Given the description of an element on the screen output the (x, y) to click on. 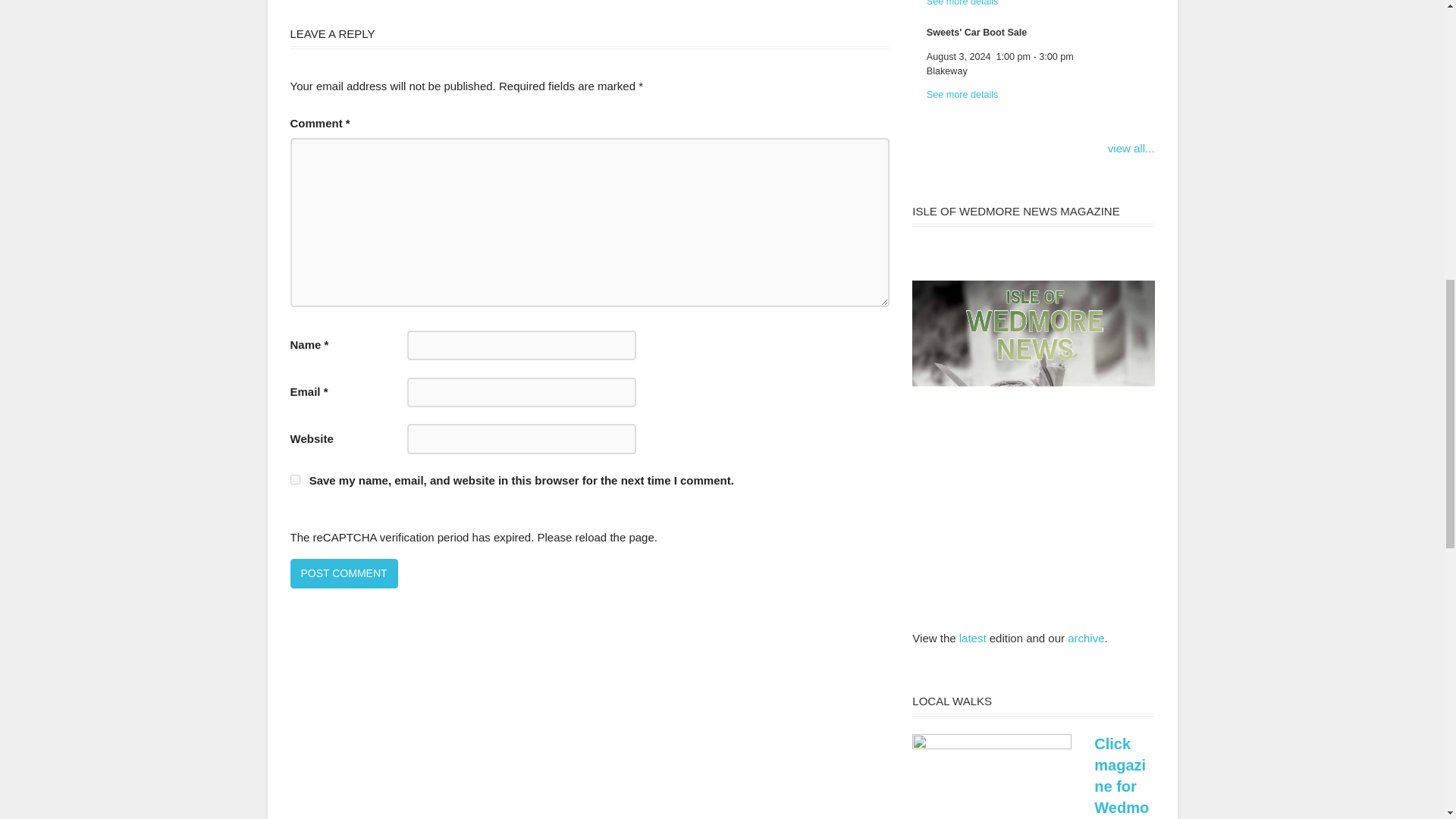
Post Comment (343, 573)
See more details (962, 94)
Isle of Wedmore News Magazine (965, 637)
view all... (1131, 147)
yes (294, 479)
See more details (962, 3)
Post Comment (343, 573)
lat (965, 637)
